Given the description of an element on the screen output the (x, y) to click on. 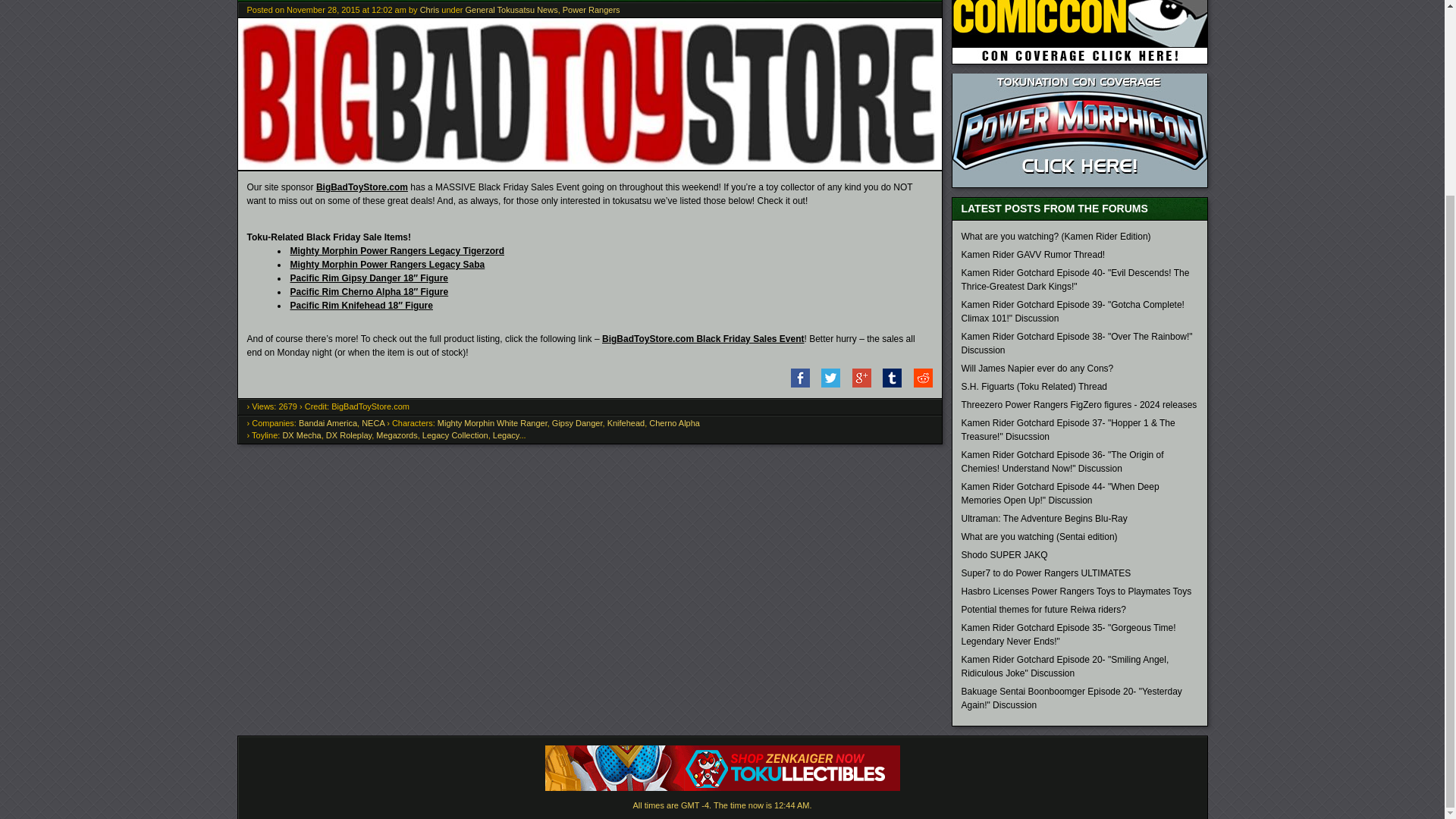
Power Morphicon 2014 (1079, 184)
SDCC (1079, 31)
San Diego Comic Con (1079, 60)
reddit this! (917, 384)
Power Morphicon (1079, 130)
Post to tumblr (887, 384)
Share with followers on Twitter (826, 384)
Share with friends on Facebook (795, 384)
